Given the description of an element on the screen output the (x, y) to click on. 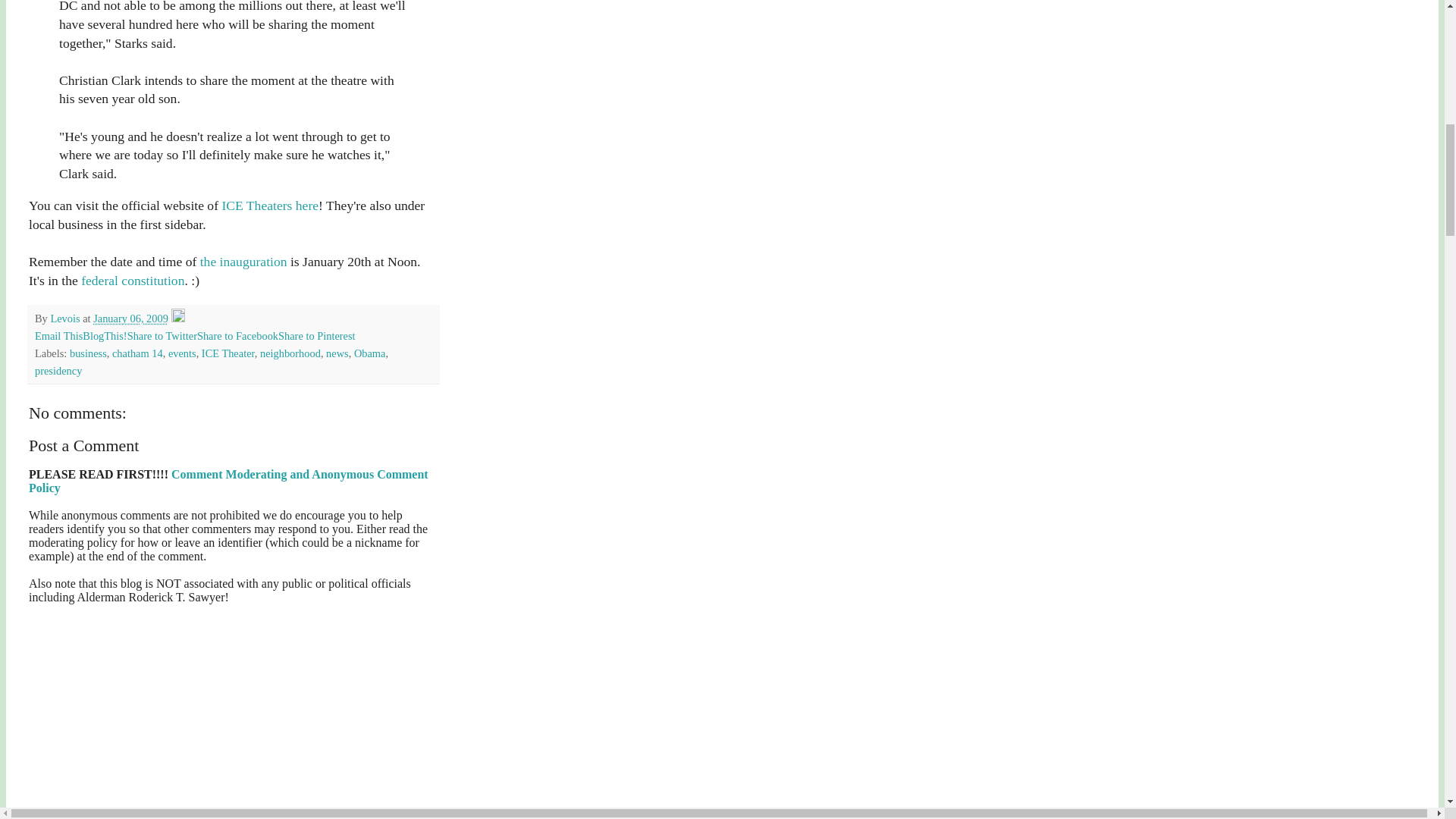
Comment Moderating and Anonymous Comment Policy (228, 480)
Levois (65, 318)
ICE Theater (228, 353)
author profile (65, 318)
Share to Pinterest (316, 336)
Edit Post (177, 318)
news (337, 353)
chatham 14 (137, 353)
ICE Theaters here (269, 205)
federal constitution (132, 280)
BlogThis! (104, 336)
business (87, 353)
BlogThis! (104, 336)
Email This (58, 336)
Share to Twitter (162, 336)
